Given the description of an element on the screen output the (x, y) to click on. 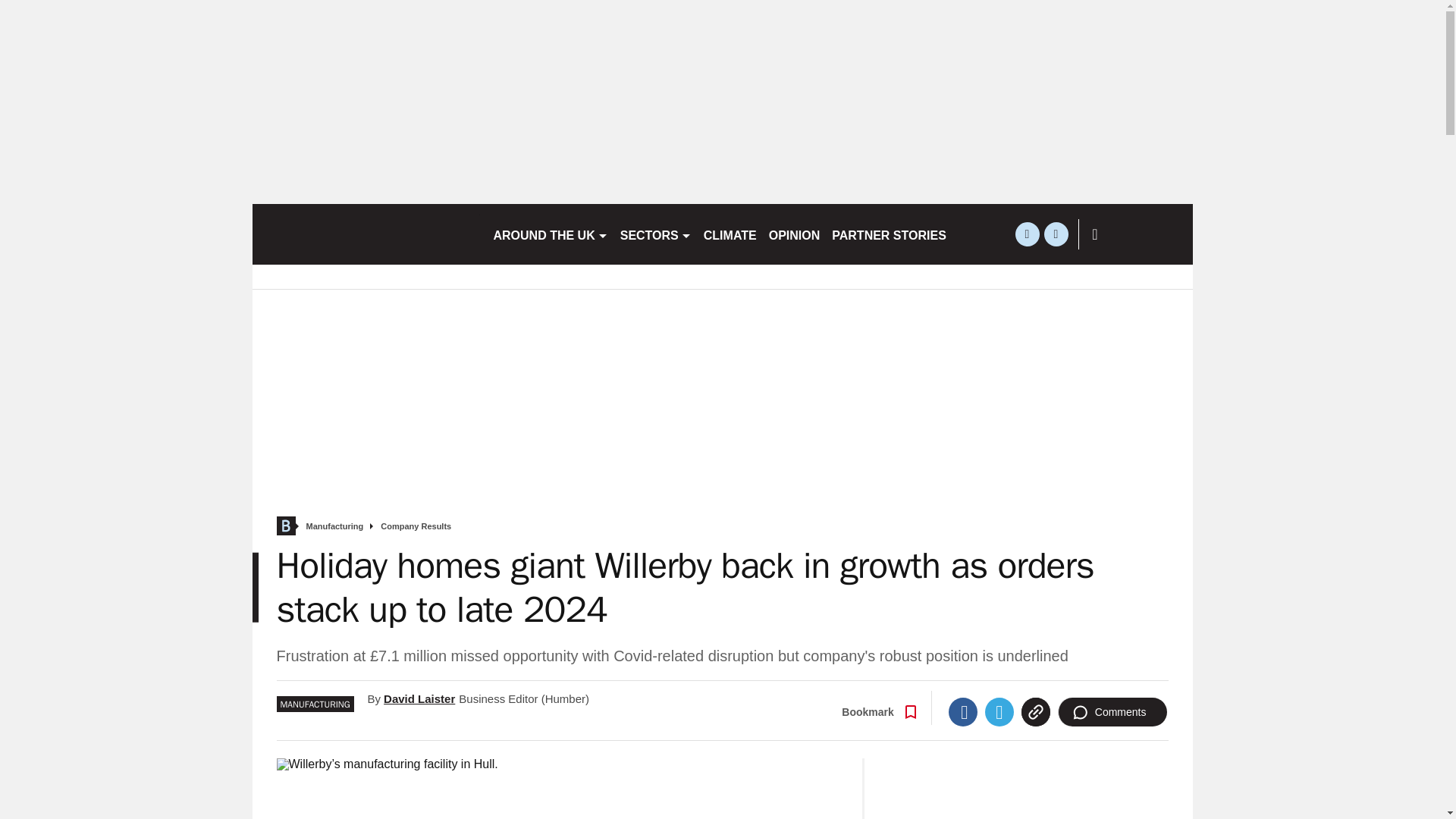
Facebook (962, 711)
AROUND THE UK (549, 233)
twitter (1026, 233)
OPINION (794, 233)
Twitter (999, 711)
CLIMATE (729, 233)
linkedin (1055, 233)
birminghampost (365, 233)
PARTNER STORIES (888, 233)
SECTORS (655, 233)
